Given the description of an element on the screen output the (x, y) to click on. 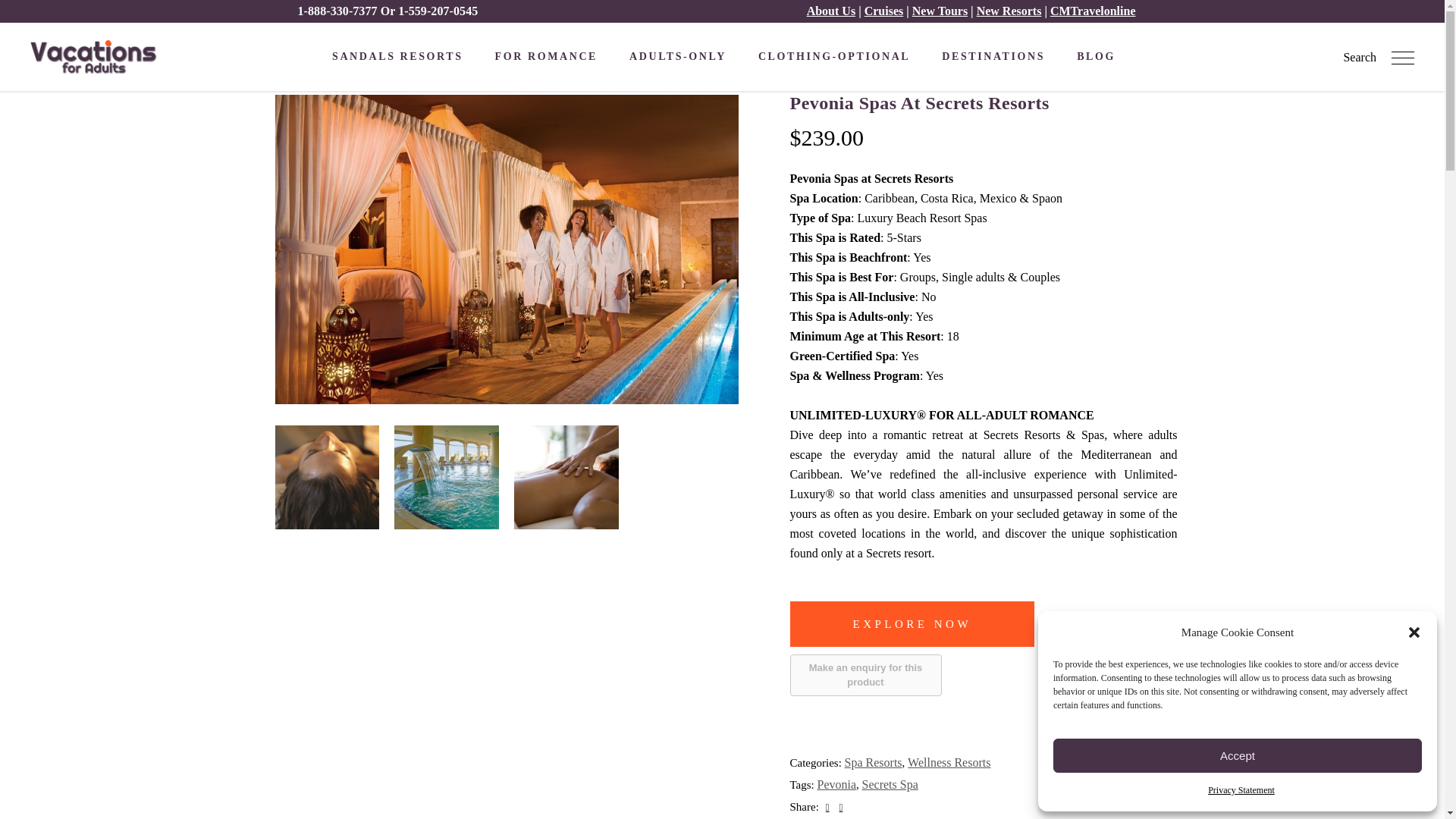
Privacy Statement (1241, 790)
Cruises (884, 10)
Make an enquiry for this product (866, 675)
New Resorts (1009, 10)
About Us (831, 10)
Secrets-Bahia-Real-Resort-Spa-Pool (446, 477)
spa-concept (326, 477)
New Tours (940, 10)
Secrets-Bahia-Real-Resort-spa-massage (565, 477)
Accept (1237, 755)
CMTravelonline (1092, 10)
